Given the description of an element on the screen output the (x, y) to click on. 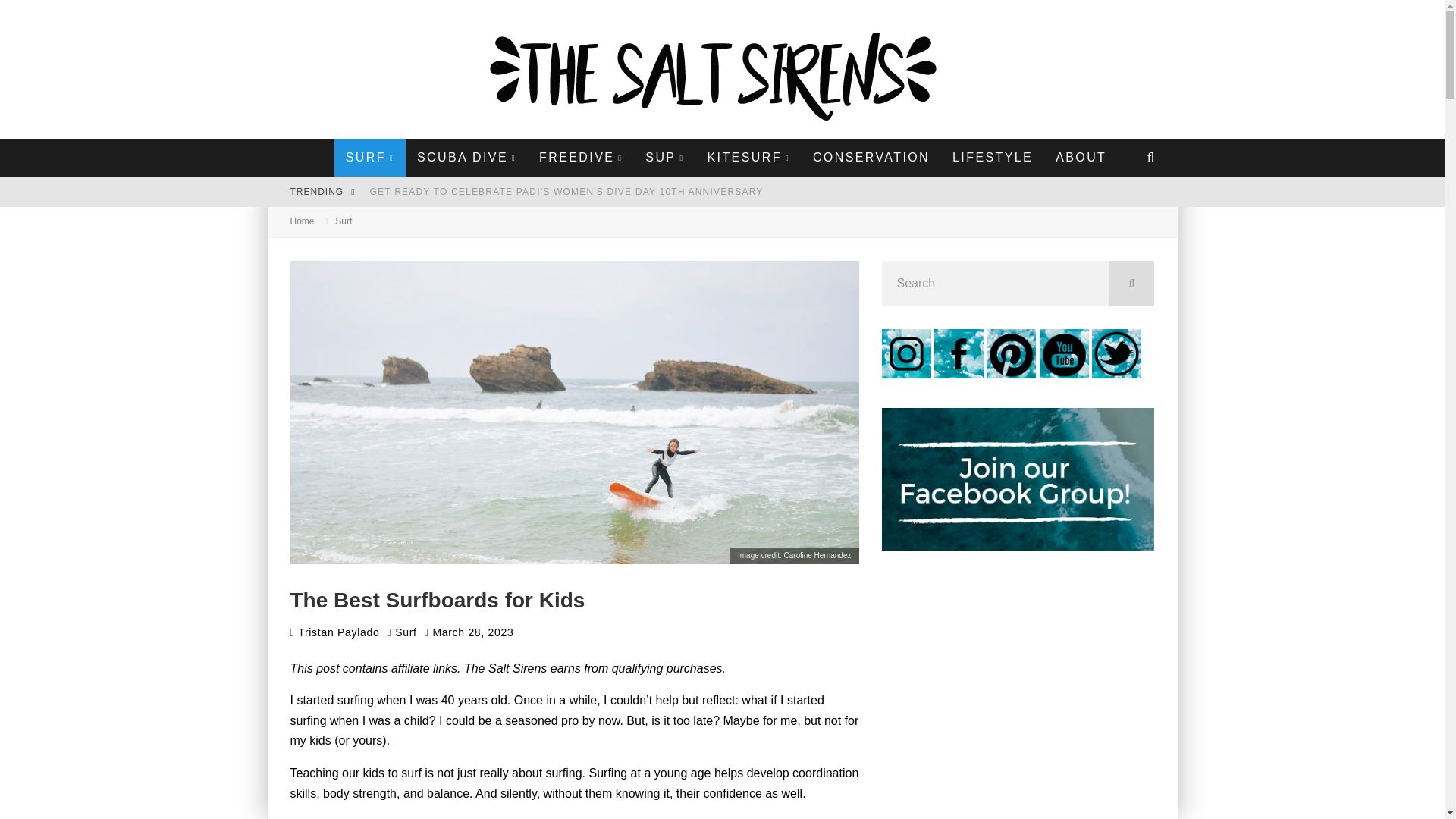
FREEDIVE (580, 157)
SCUBA DIVE (466, 157)
SURF (370, 157)
